Given the description of an element on the screen output the (x, y) to click on. 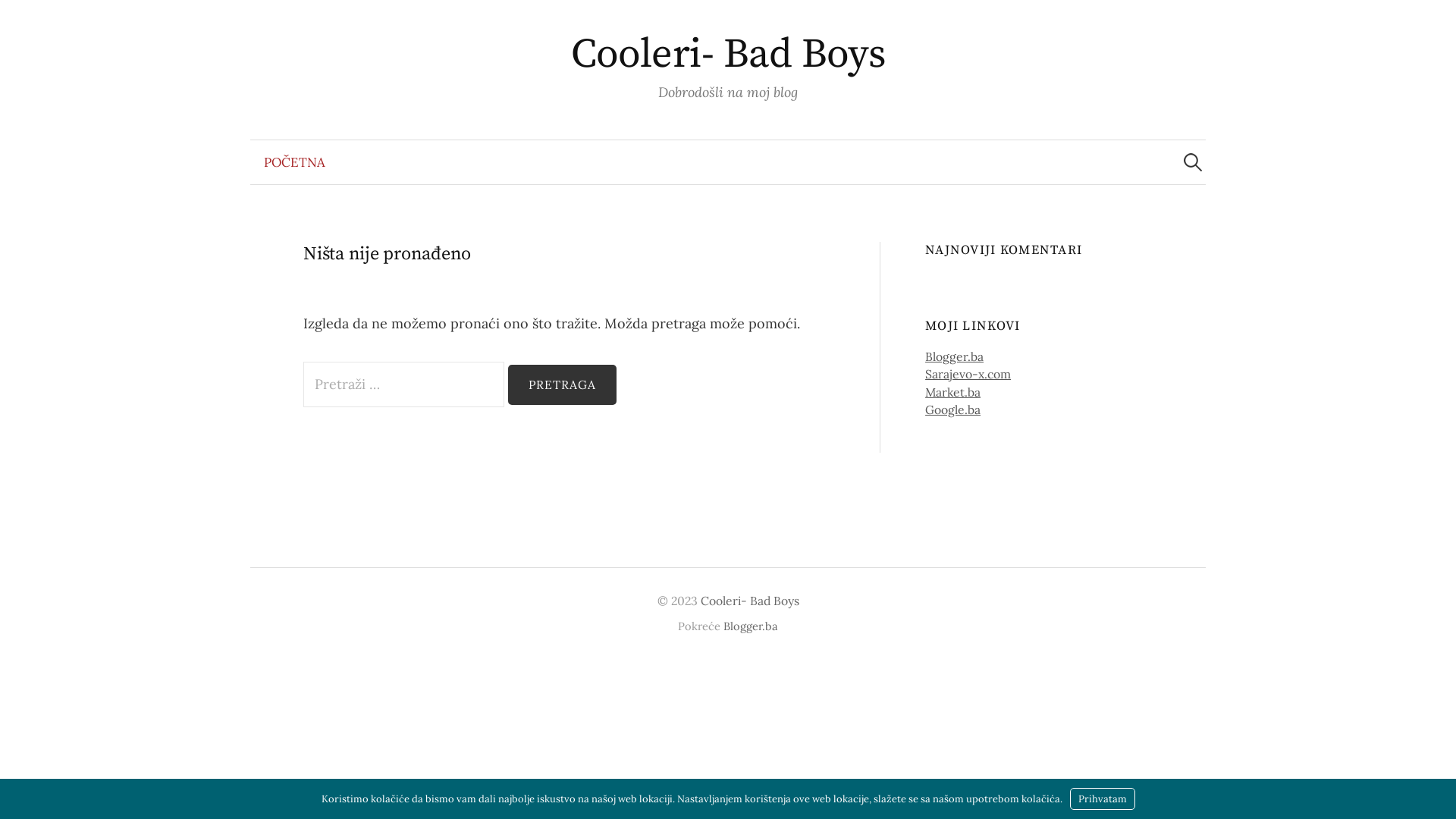
Prihvatam Element type: text (1101, 798)
Blogger.ba Element type: text (954, 356)
Sarajevo-x.com Element type: text (967, 373)
Pretraga Element type: text (562, 384)
Cooleri- Bad Boys Element type: text (749, 600)
Market.ba Element type: text (952, 391)
Cooleri- Bad Boys Element type: text (728, 54)
Pretraga Element type: text (18, 18)
Google.ba Element type: text (952, 409)
Blogger.ba Element type: text (750, 625)
